Given the description of an element on the screen output the (x, y) to click on. 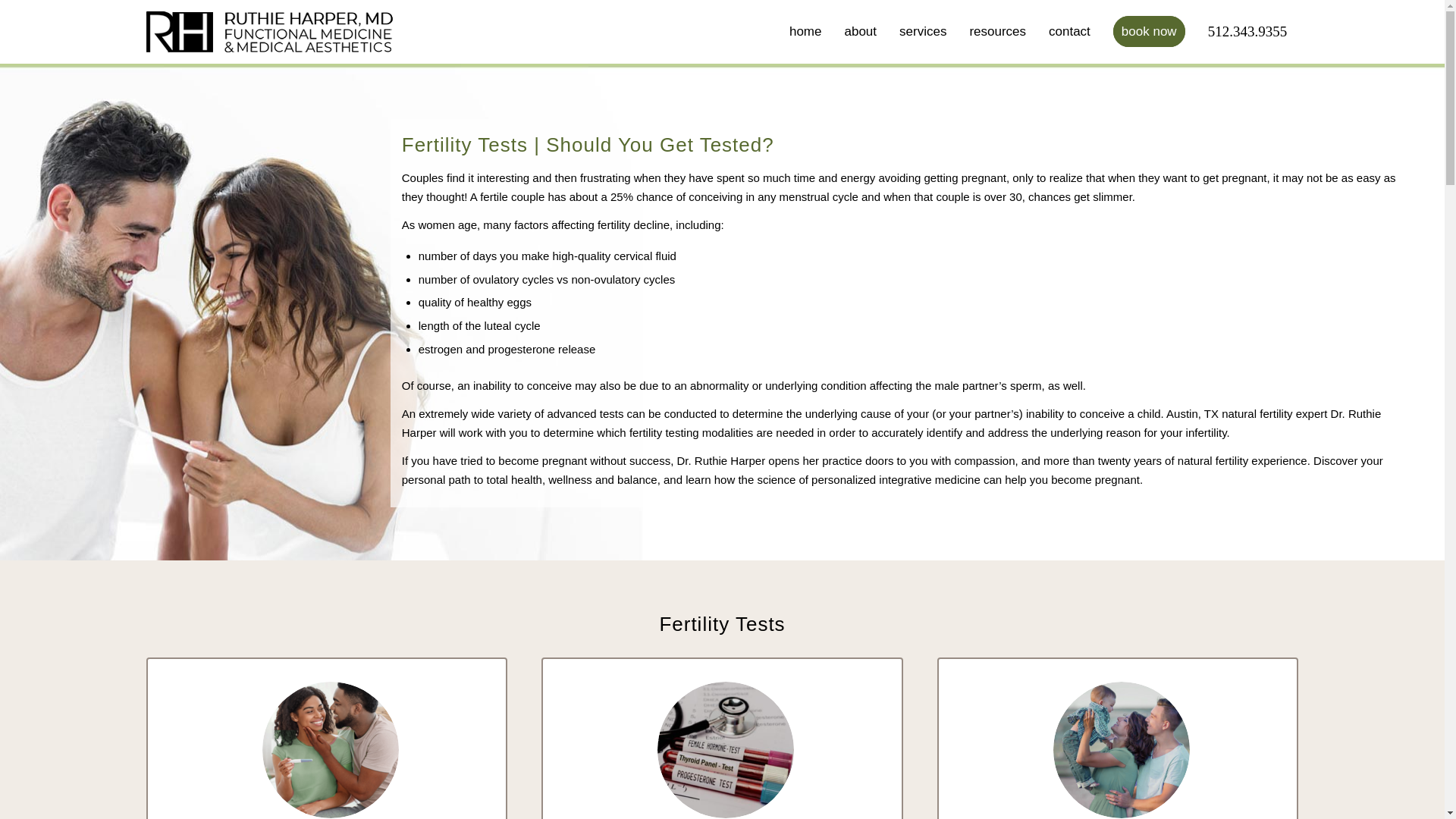
top fertility doctor austin, tx (1120, 749)
top fertility doctor austin, tx (725, 749)
services (923, 31)
top fertility doctor austin, tx (330, 749)
